Given the description of an element on the screen output the (x, y) to click on. 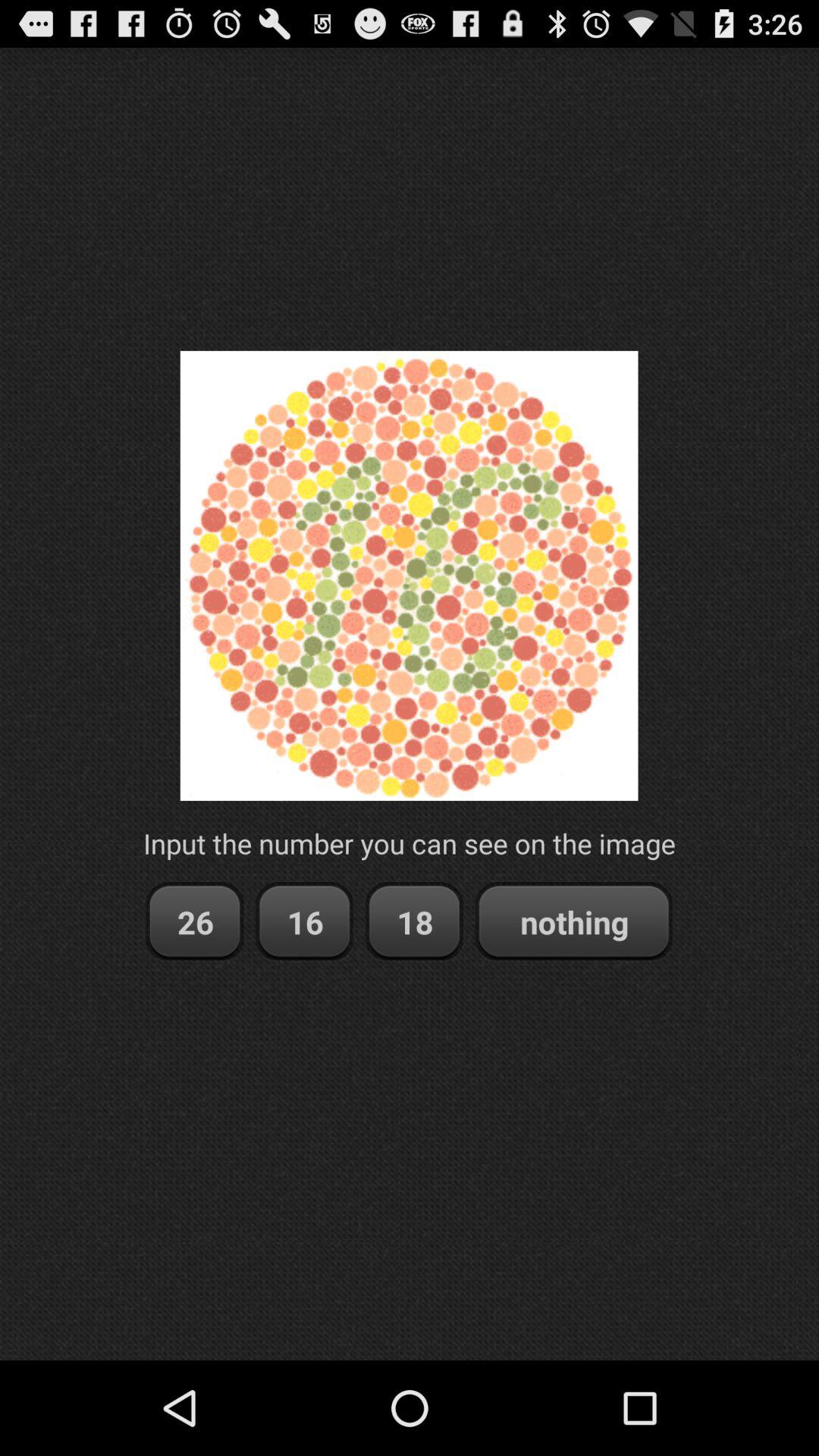
turn off 26 item (194, 921)
